Given the description of an element on the screen output the (x, y) to click on. 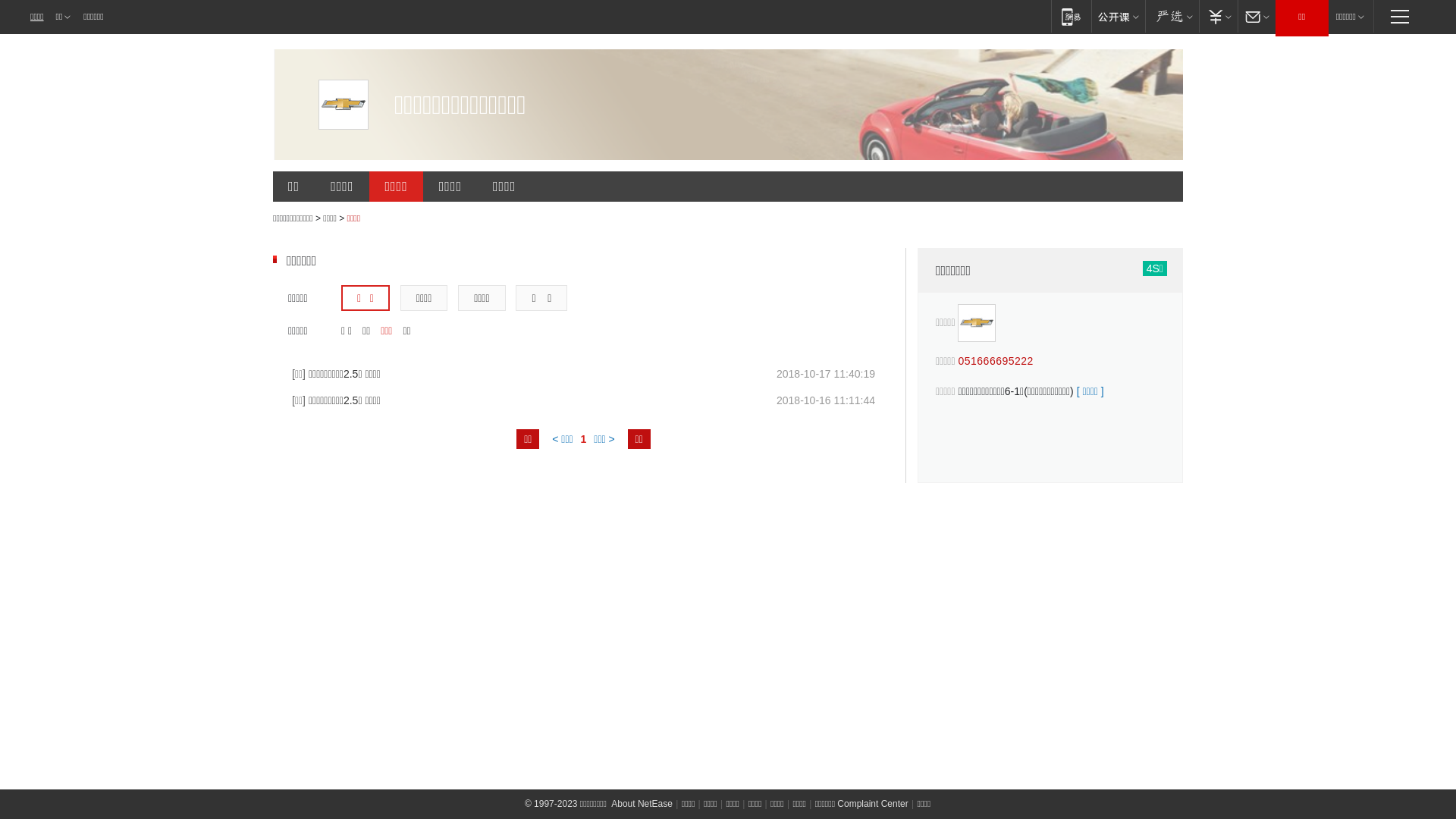
About NetEase Element type: text (641, 803)
1 Element type: text (583, 439)
